Given the description of an element on the screen output the (x, y) to click on. 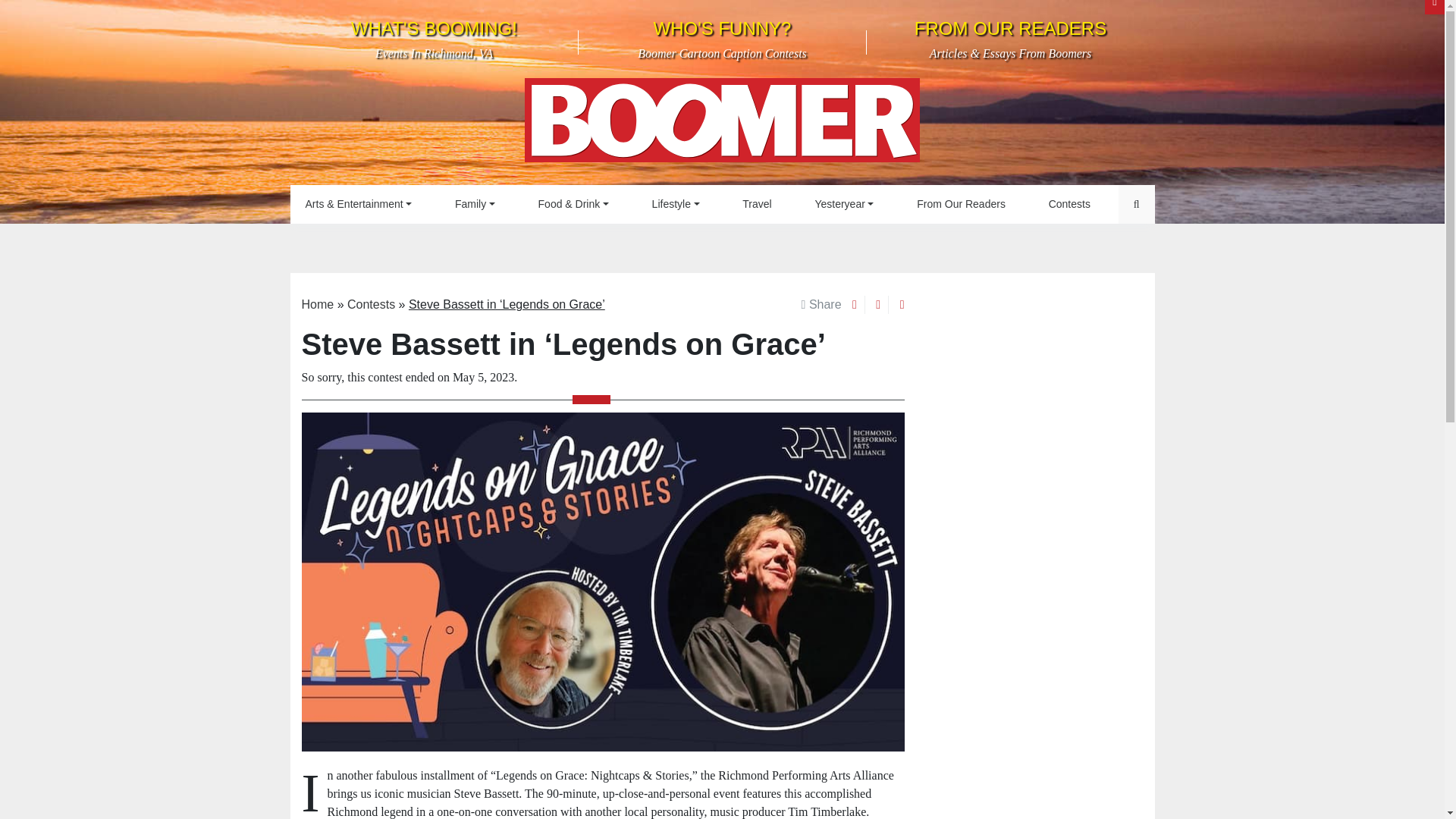
Yesteryear (434, 39)
Travel (843, 204)
BOOMER Magazine (756, 204)
Lifestyle (722, 124)
Family (675, 204)
From Our Readers (475, 204)
Family (960, 204)
Contests (475, 204)
